Given the description of an element on the screen output the (x, y) to click on. 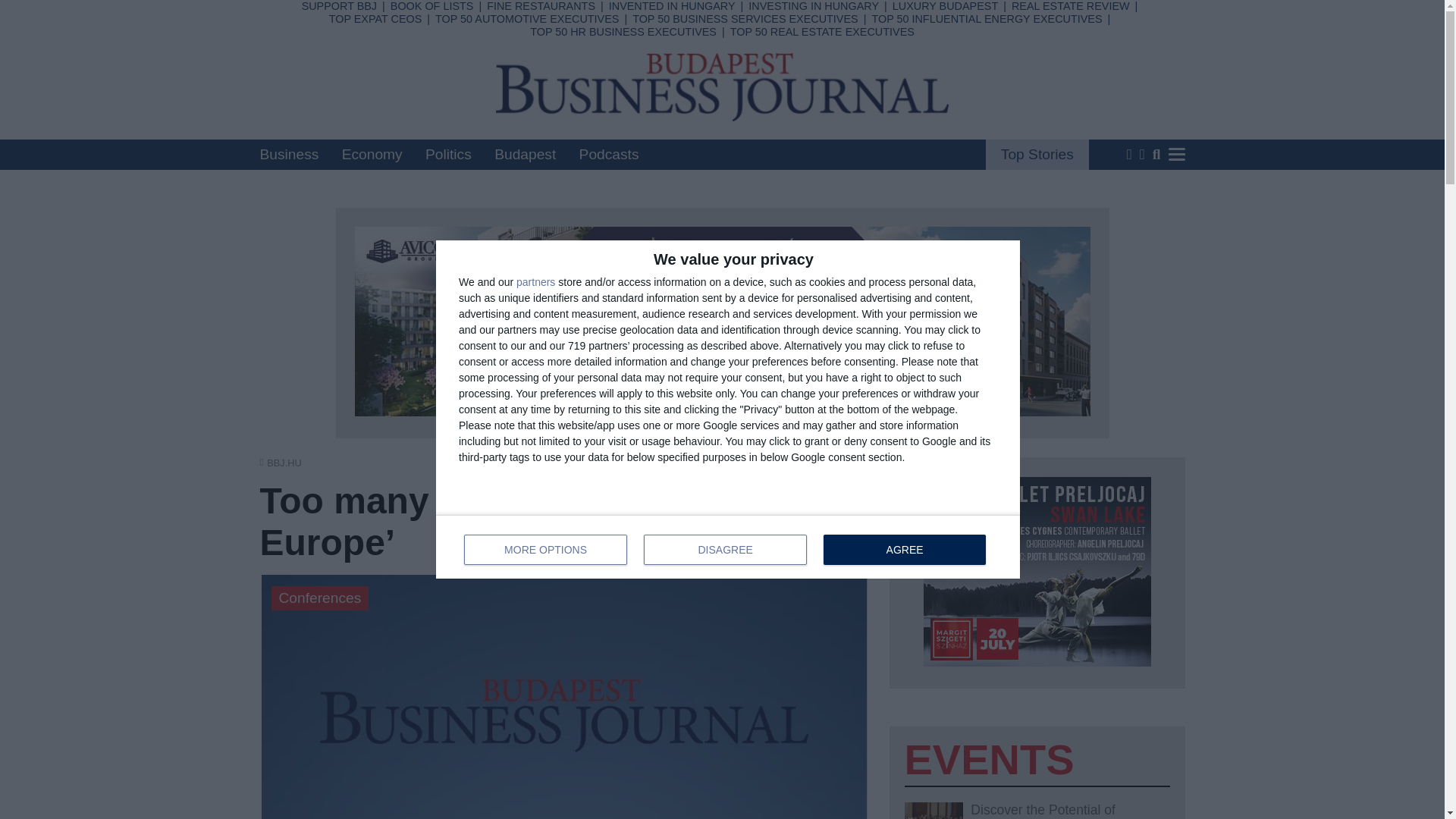
DISAGREE (724, 549)
Industry (529, 72)
AGREE (904, 549)
Budapest (525, 154)
TOP 50 HR BUSINESS EXECUTIVES (622, 31)
Finance (647, 72)
Politics (448, 154)
Startups (530, 112)
Business (288, 154)
TOP 50 BUSINESS SERVICES EXECUTIVES (745, 19)
TOP 50 INFLUENTIAL ENERGY EXECUTIVES (986, 19)
INVENTED IN HUNGARY (671, 6)
Top Stories (727, 546)
BOOK OF LISTS (1037, 154)
